Given the description of an element on the screen output the (x, y) to click on. 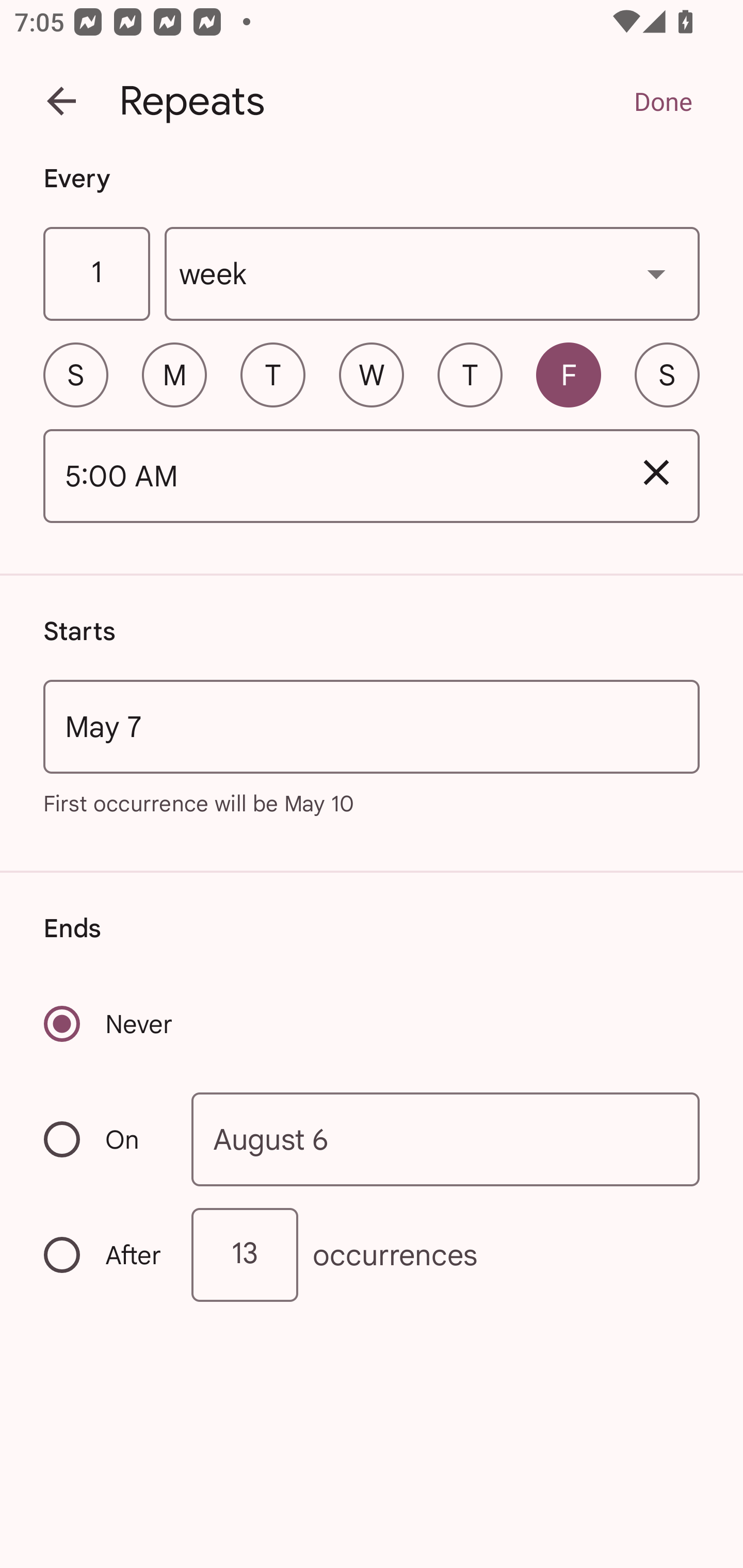
Back (61, 101)
Done (663, 101)
1 (96, 274)
week (431, 274)
Show dropdown menu (655, 273)
S Sunday (75, 374)
M Monday (173, 374)
T Tuesday (272, 374)
W Wednesday (371, 374)
T Thursday (469, 374)
F Friday, selected (568, 374)
S Saturday (666, 374)
5:00 AM (327, 476)
Remove 5:00 AM (655, 472)
May 7 (371, 726)
Never Recurrence never ends (109, 1023)
August 6 (445, 1139)
On Recurrence ends on a specific date (104, 1138)
13 (244, 1254)
